Given the description of an element on the screen output the (x, y) to click on. 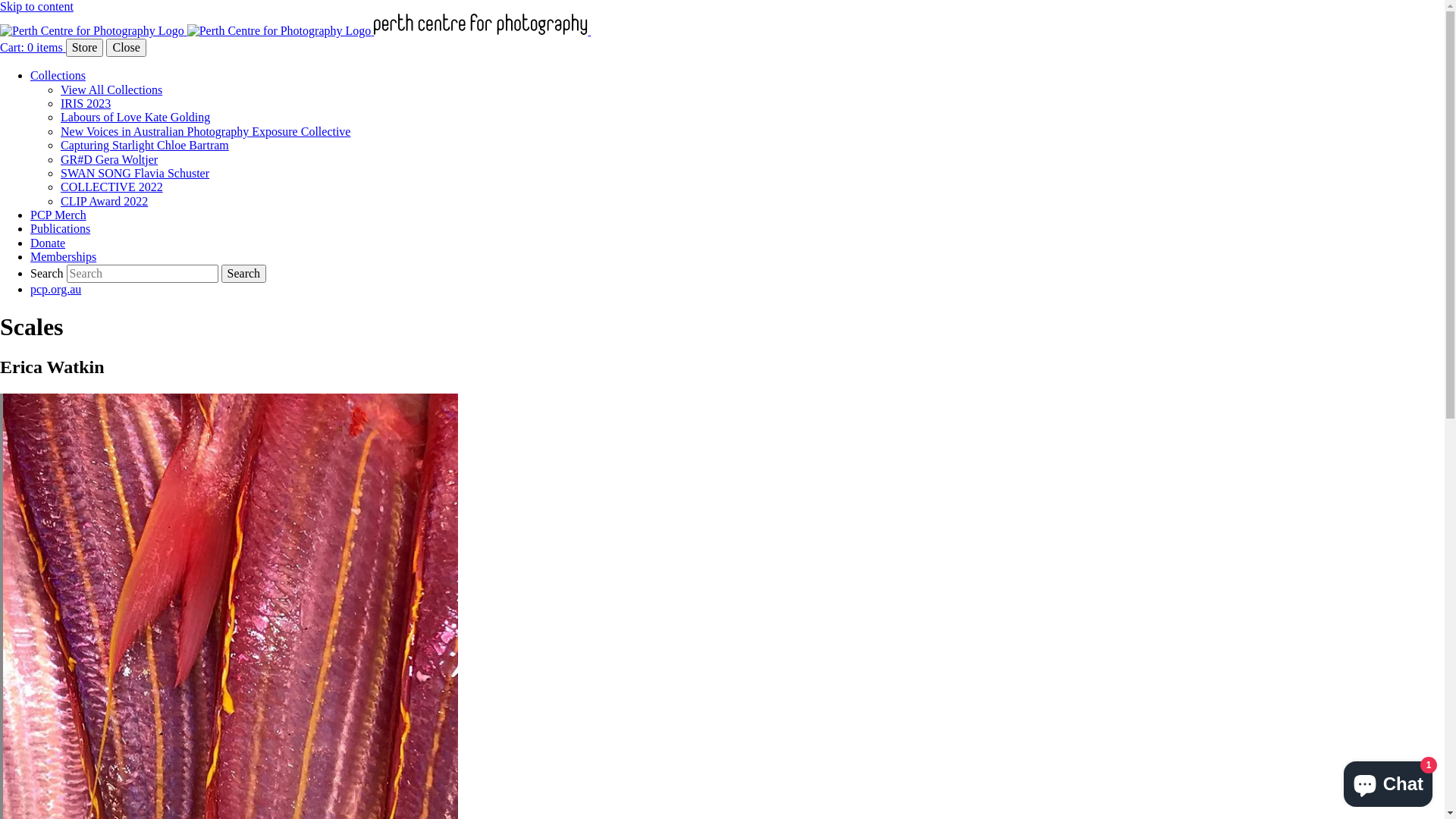
Memberships Element type: text (63, 256)
Skip to content Element type: text (36, 6)
Donate Element type: text (47, 242)
Publications Element type: text (60, 228)
Go to the homepage Element type: hover (402, 30)
CLIP Award 2022 Element type: text (103, 200)
Search Element type: text (243, 273)
Capturing Starlight Chloe Bartram Element type: text (144, 144)
GR#D Gera Woltjer Element type: text (108, 159)
Store Element type: text (84, 47)
Close Element type: text (125, 47)
PCP Merch Element type: text (58, 214)
New Voices in Australian Photography Exposure Collective Element type: text (205, 131)
IRIS 2023 Element type: text (85, 103)
Labours of Love Kate Golding Element type: text (135, 116)
pcp.org.au Element type: text (55, 288)
View All Collections Element type: text (111, 89)
Shopify online store chat Element type: hover (1388, 780)
Collections Element type: text (57, 75)
SWAN SONG Flavia Schuster Element type: text (134, 172)
Cart: 0 items Element type: text (32, 46)
COLLECTIVE 2022 Element type: text (111, 186)
